Given the description of an element on the screen output the (x, y) to click on. 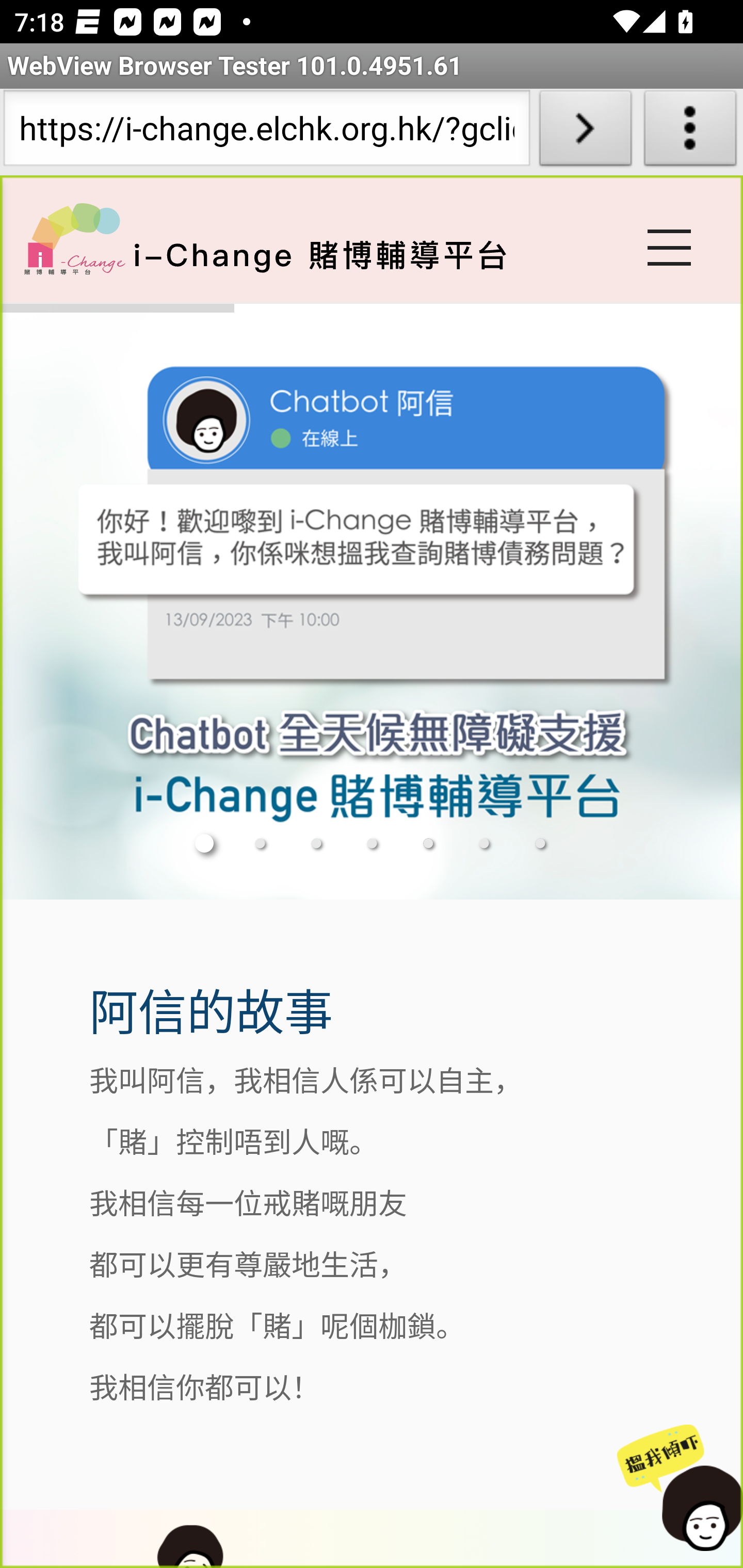
Load URL (585, 132)
About WebView (690, 132)
Home (74, 238)
Chat Now (675, 1488)
